Given the description of an element on the screen output the (x, y) to click on. 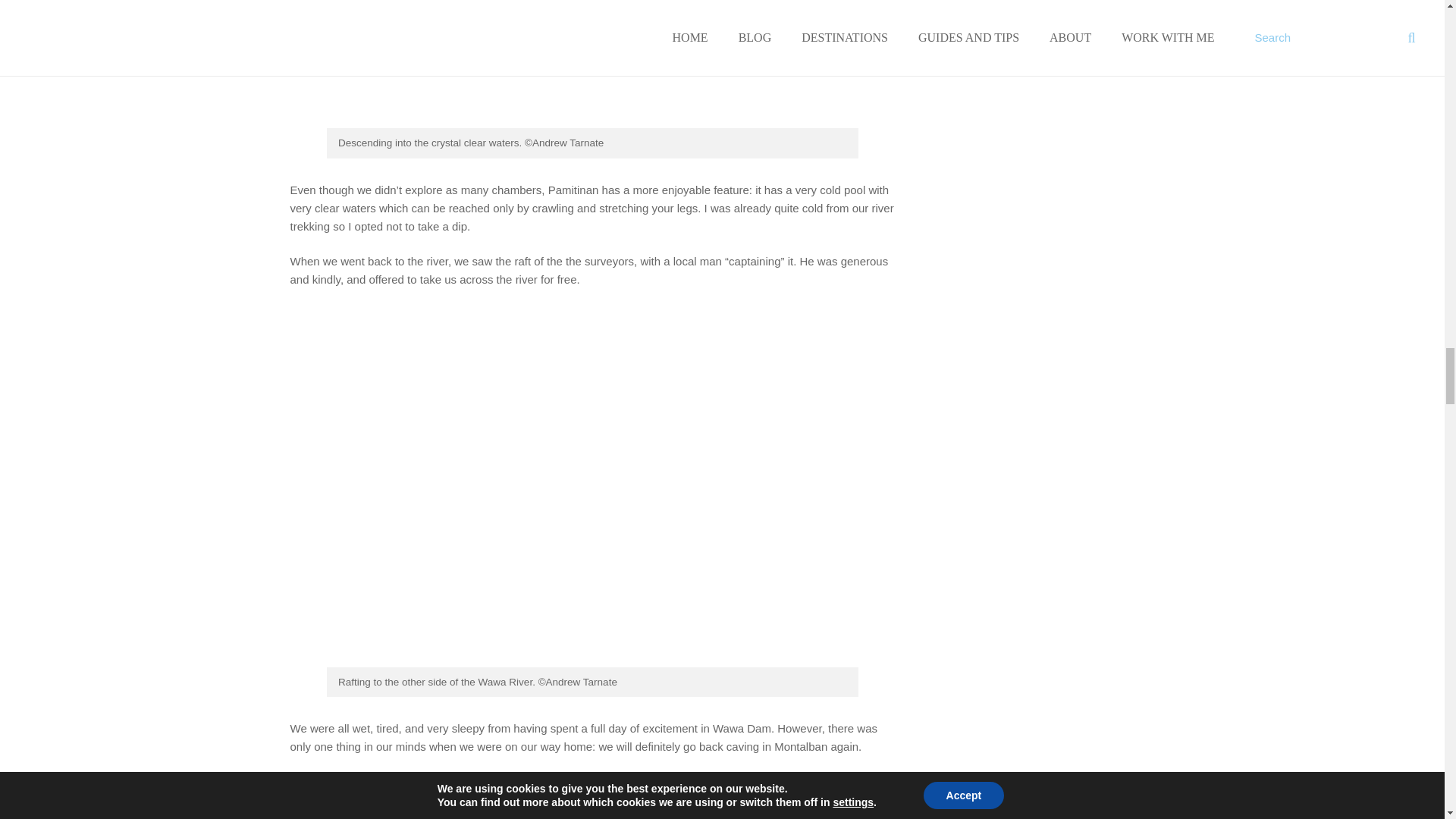
pool-cave by Aleah Phils, on Flickr (588, 123)
rafting-wawa by Aleah Phils, on Flickr (588, 662)
pool-cave (588, 63)
